Given the description of an element on the screen output the (x, y) to click on. 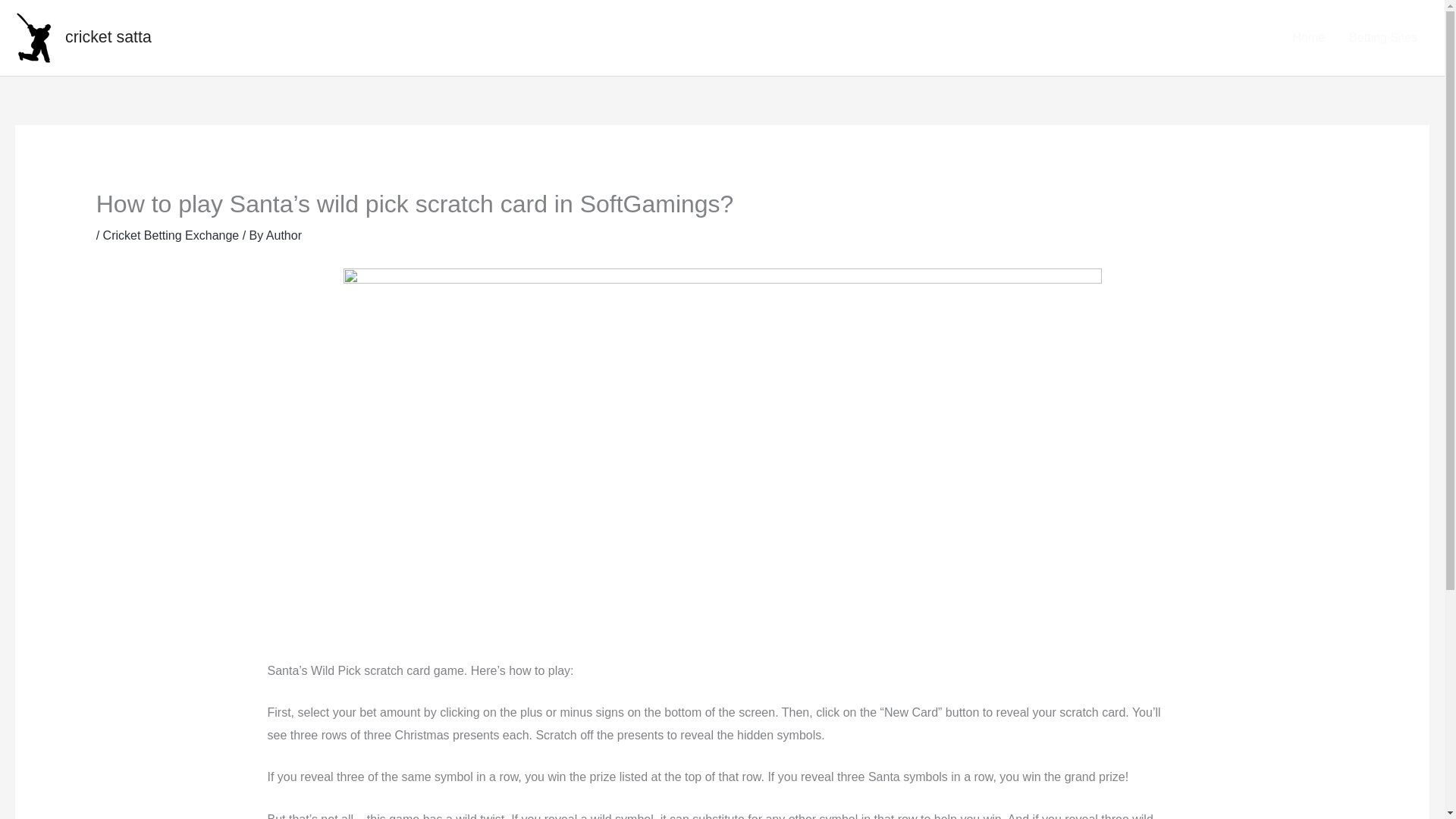
Cricket Betting Exchange (171, 235)
Betting Sites (1382, 37)
Home (1307, 37)
cricket satta (108, 36)
View all posts by Author (283, 235)
Author (283, 235)
